Given the description of an element on the screen output the (x, y) to click on. 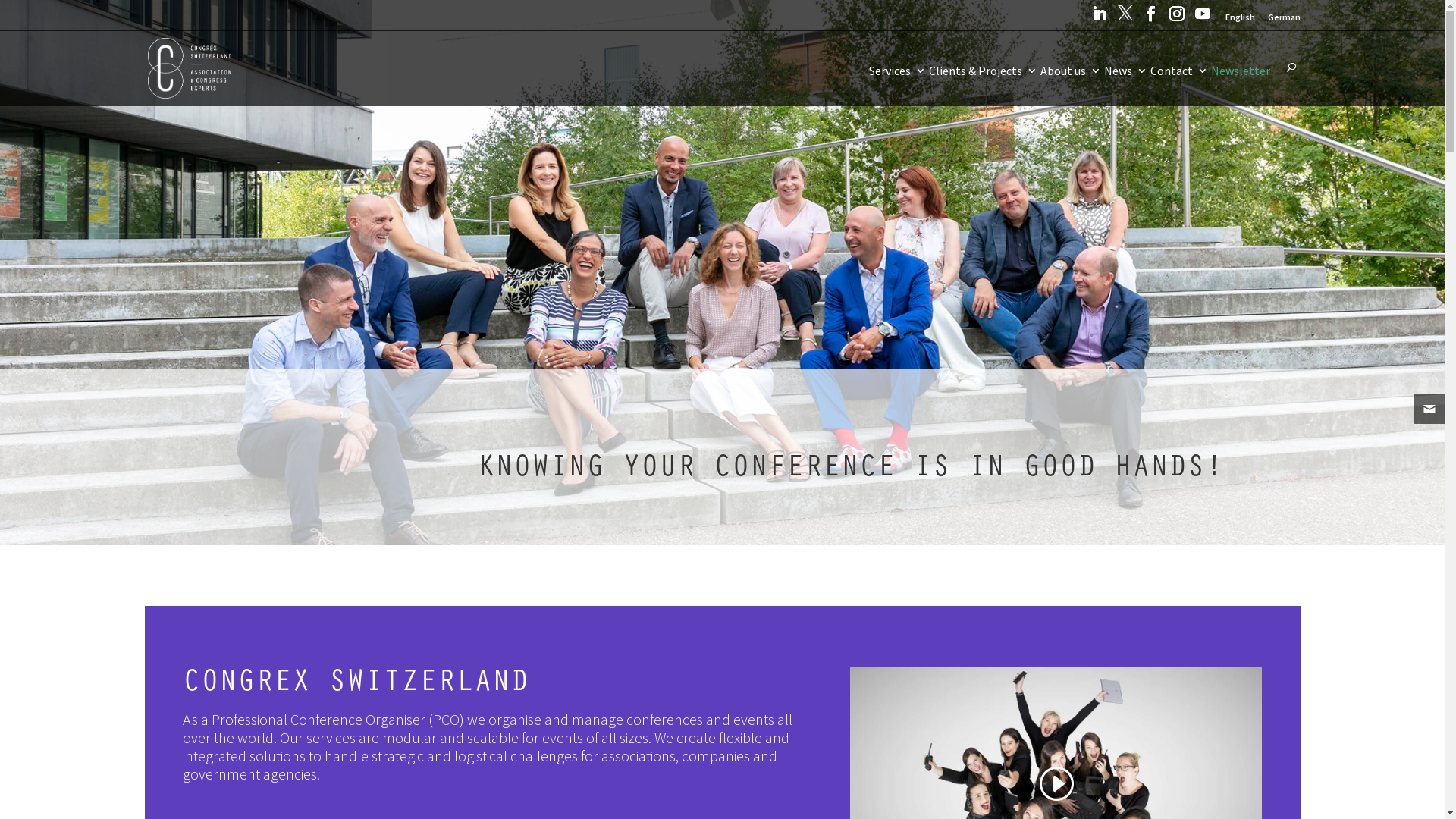
About us Element type: text (1070, 85)
Contact Element type: text (1178, 85)
German Element type: text (1283, 20)
News Element type: text (1125, 85)
Newsletter Element type: text (1239, 85)
English Element type: text (1240, 20)
Clients & Projects Element type: text (982, 85)
Services Element type: text (897, 85)
